Given the description of an element on the screen output the (x, y) to click on. 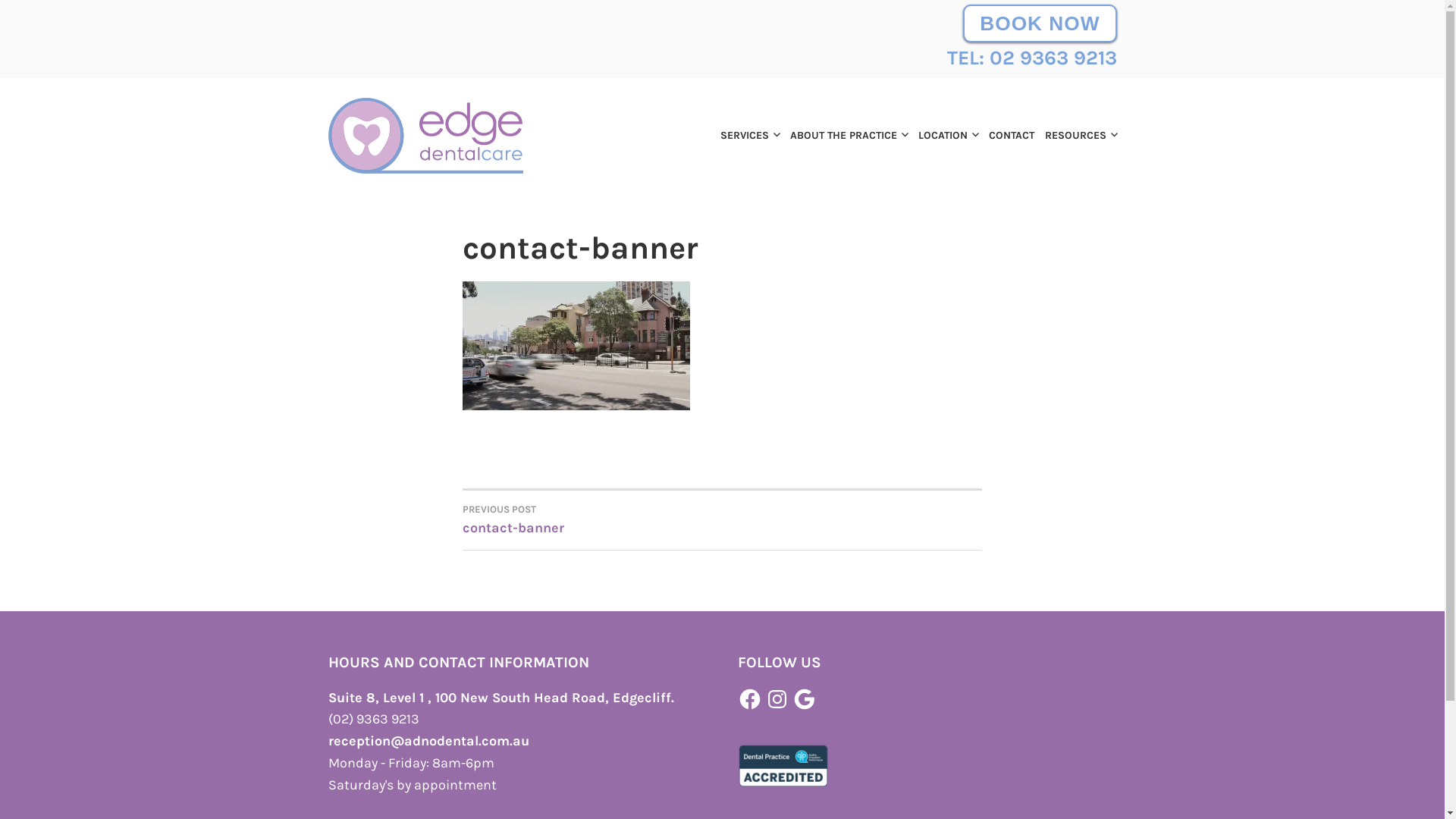
02 9363 9213 Element type: text (1052, 57)
Facebook Element type: text (749, 699)
reception@adnodental.com.au Element type: text (427, 740)
Google Element type: text (804, 699)
Suite 8, Level 1 , 100 New South Head Road, Edgecliff. Element type: text (500, 697)
Instagram Element type: text (777, 699)
CONTACT Element type: text (1007, 135)
BOOK NOW Element type: text (1039, 23)
LOCATION Element type: text (943, 135)
PREVIOUS POST
contact-banner Element type: text (592, 518)
SERVICES Element type: text (745, 135)
ABOUT THE PRACTICE Element type: text (844, 135)
RESOURCES Element type: text (1077, 135)
